Given the description of an element on the screen output the (x, y) to click on. 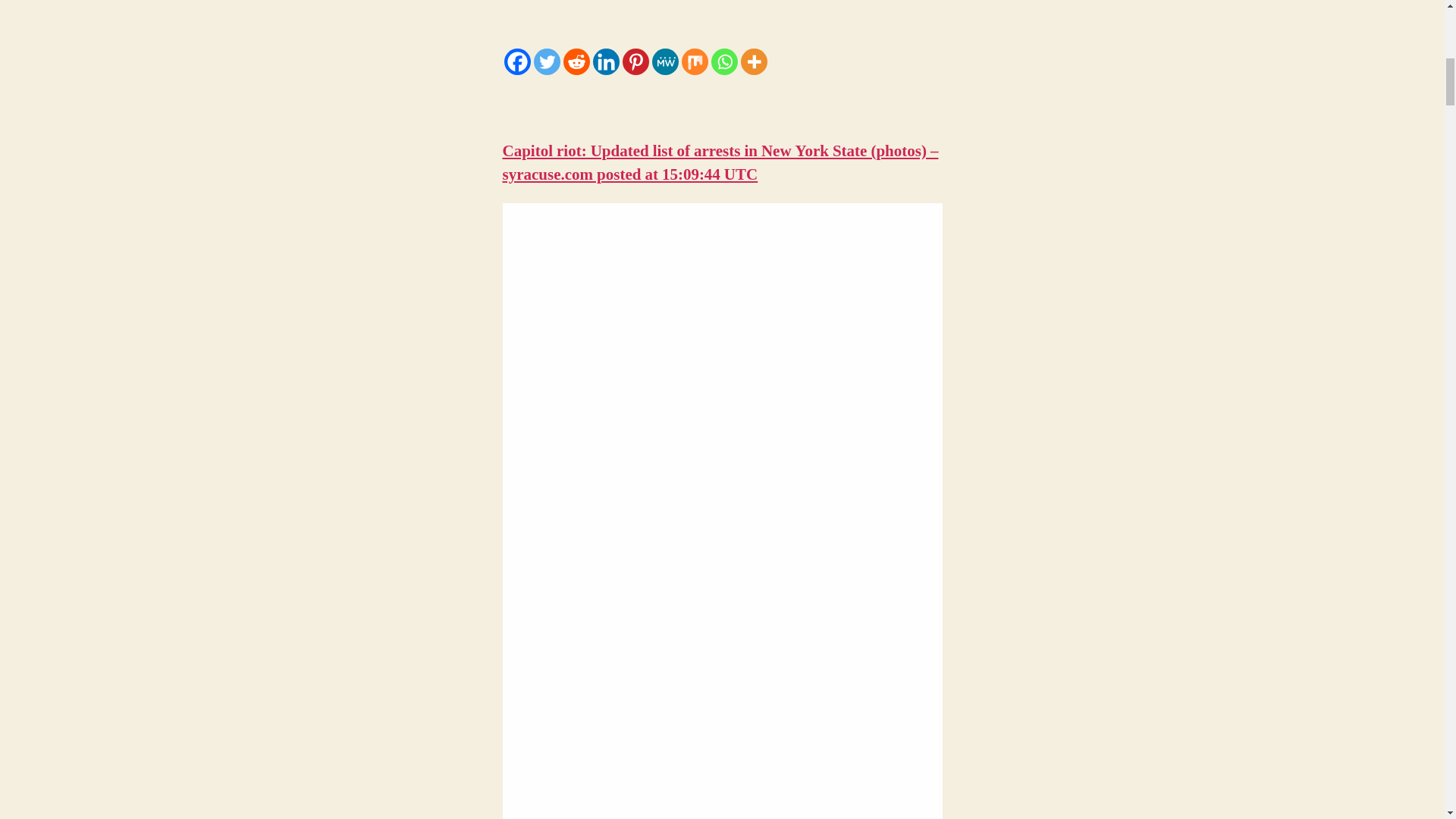
Mix (694, 61)
More (753, 61)
Reddit (575, 61)
Linkedin (606, 61)
Whatsapp (724, 61)
MeWe (665, 61)
Twitter (547, 61)
Facebook (516, 61)
Pinterest (634, 61)
